Given the description of an element on the screen output the (x, y) to click on. 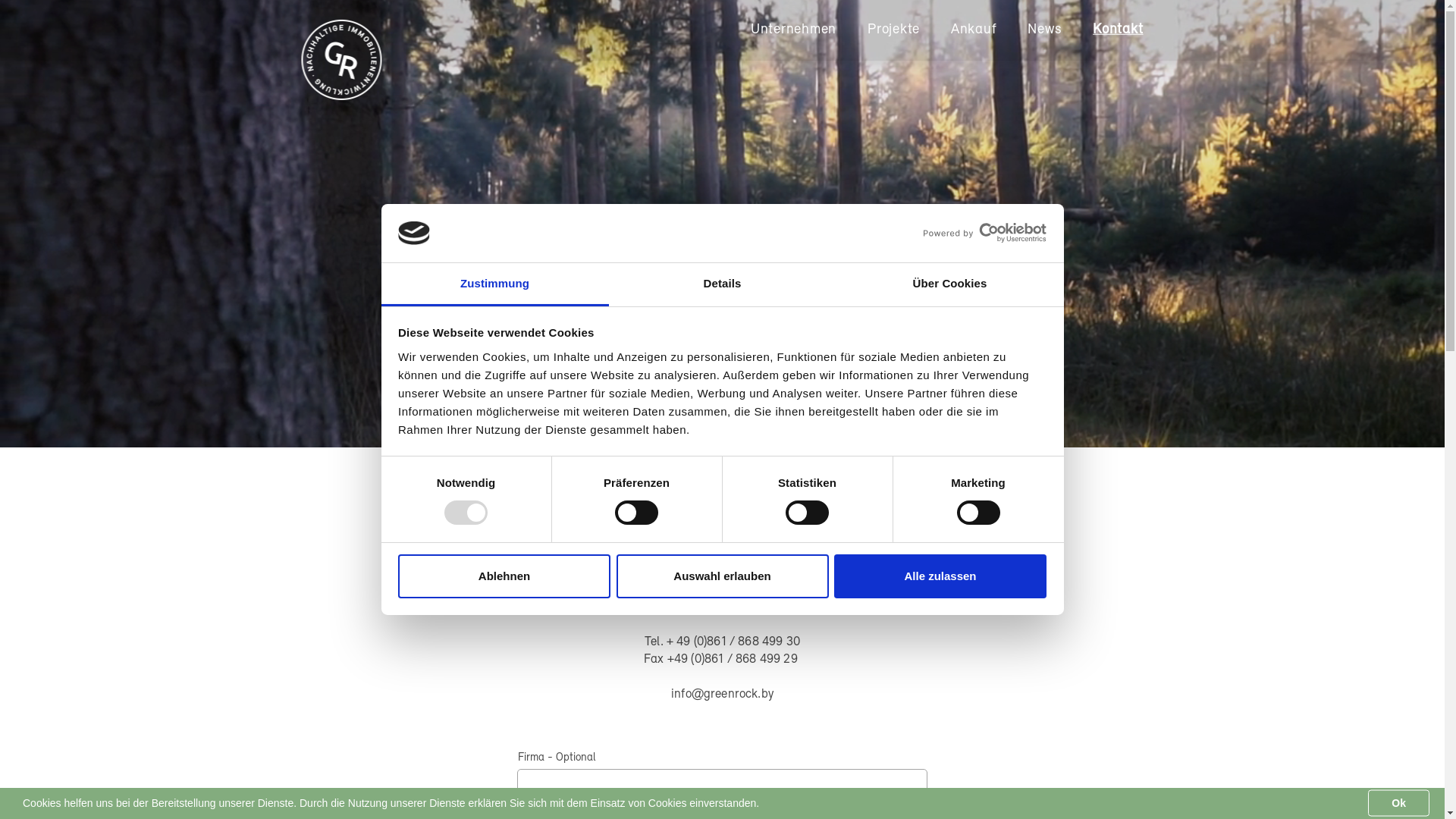
Auswahl erlauben Element type: text (721, 576)
Details Element type: text (721, 284)
Unternehmen Element type: text (793, 29)
Alle zulassen Element type: text (940, 576)
News Element type: text (1044, 29)
Ankauf Element type: text (973, 29)
Zustimmung Element type: text (494, 284)
Ablehnen Element type: text (504, 576)
Projekte Element type: text (893, 29)
Kontakt Element type: text (1117, 29)
